Given the description of an element on the screen output the (x, y) to click on. 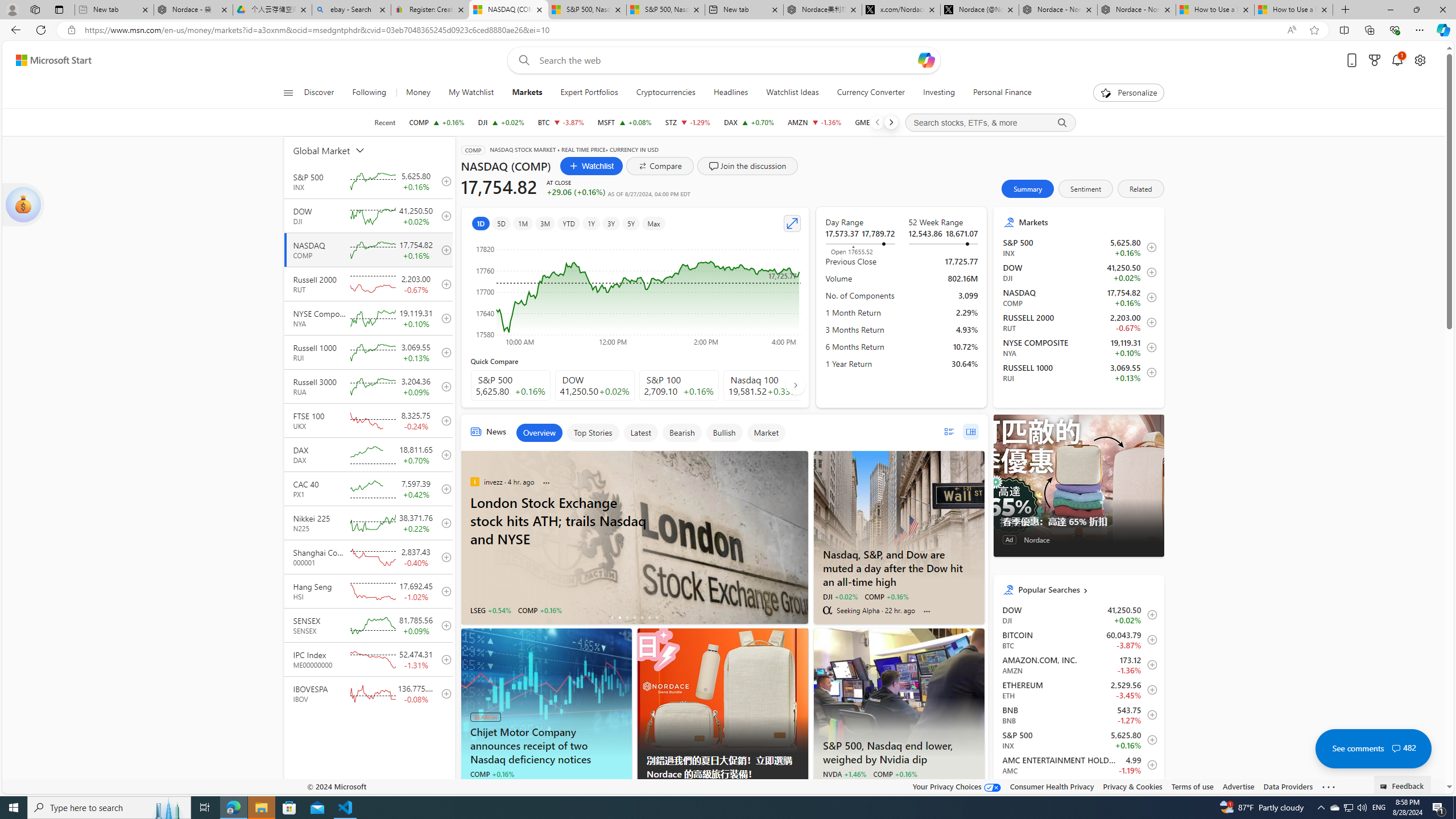
Your Privacy Choices (956, 785)
NVDA +1.46% (844, 773)
AdChoices (798, 789)
3Y (611, 223)
Markets (1086, 222)
Next (890, 122)
Personal Finance (997, 92)
Recent (385, 121)
Popular Searches (1085, 589)
